Given the description of an element on the screen output the (x, y) to click on. 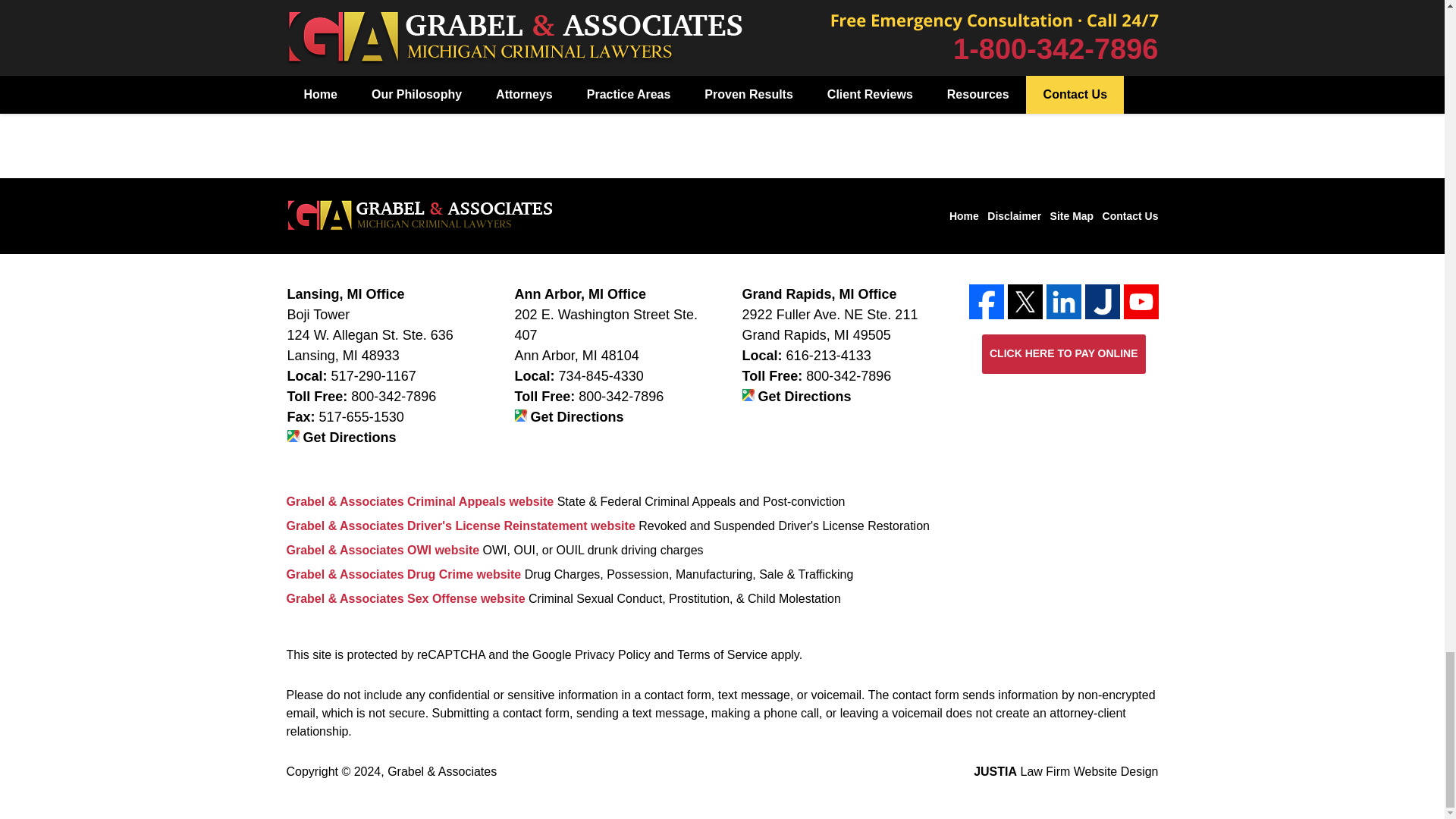
Twitter (1024, 301)
LinkedIn (1063, 301)
Facebook (986, 301)
Justia (1101, 301)
YouTube (1141, 301)
